Given the description of an element on the screen output the (x, y) to click on. 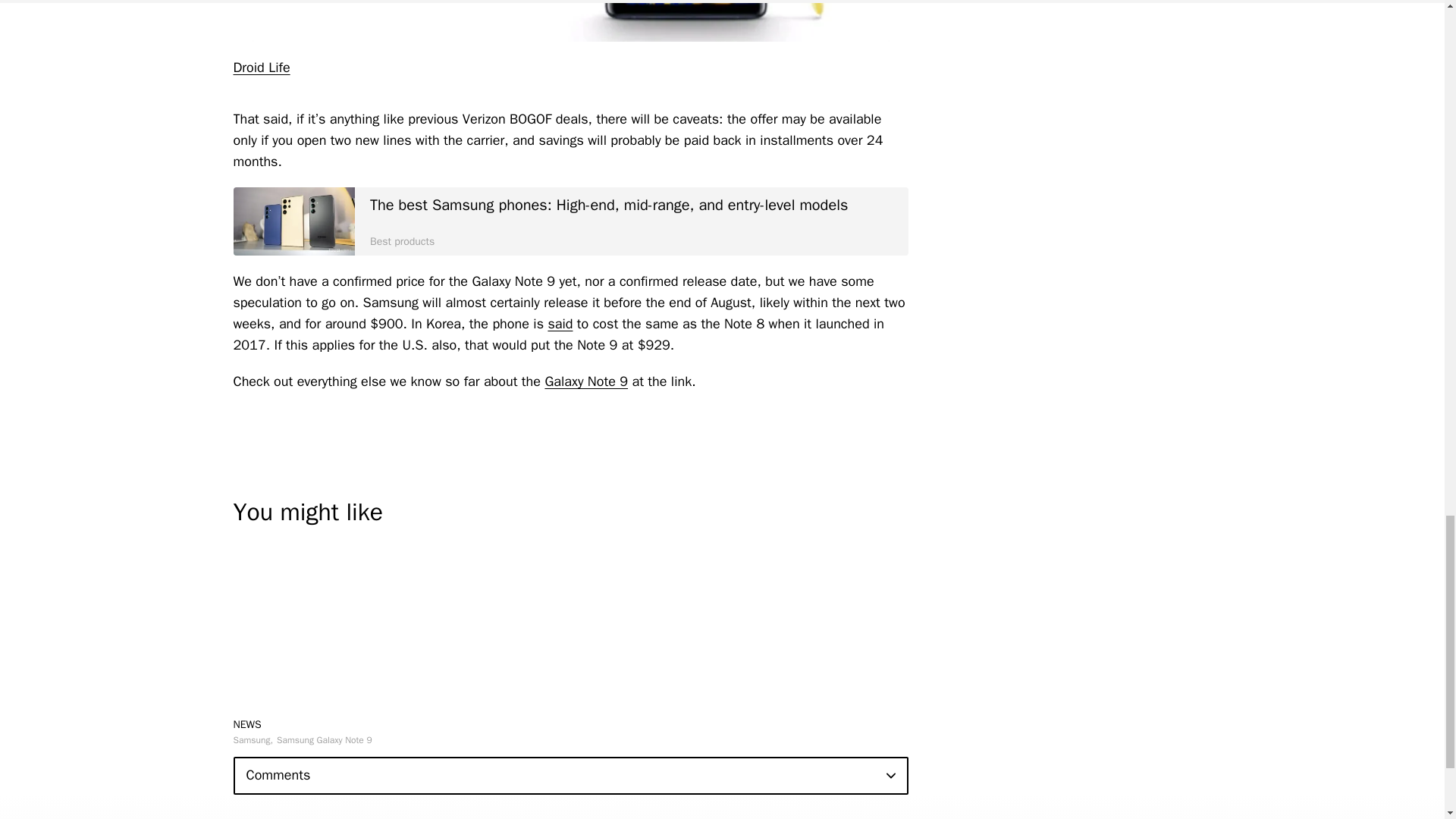
Samsung (252, 739)
Samsung Galaxy Note 9 (324, 739)
NEWS (247, 724)
Comments (570, 775)
Samsung Galaxy S24 Family 6 (293, 221)
said (559, 323)
Droid Life (260, 67)
android-authority-samsung-galaxy-note-9-verizon-bogof-deal1 (569, 20)
Galaxy Note 9 (585, 381)
